Given the description of an element on the screen output the (x, y) to click on. 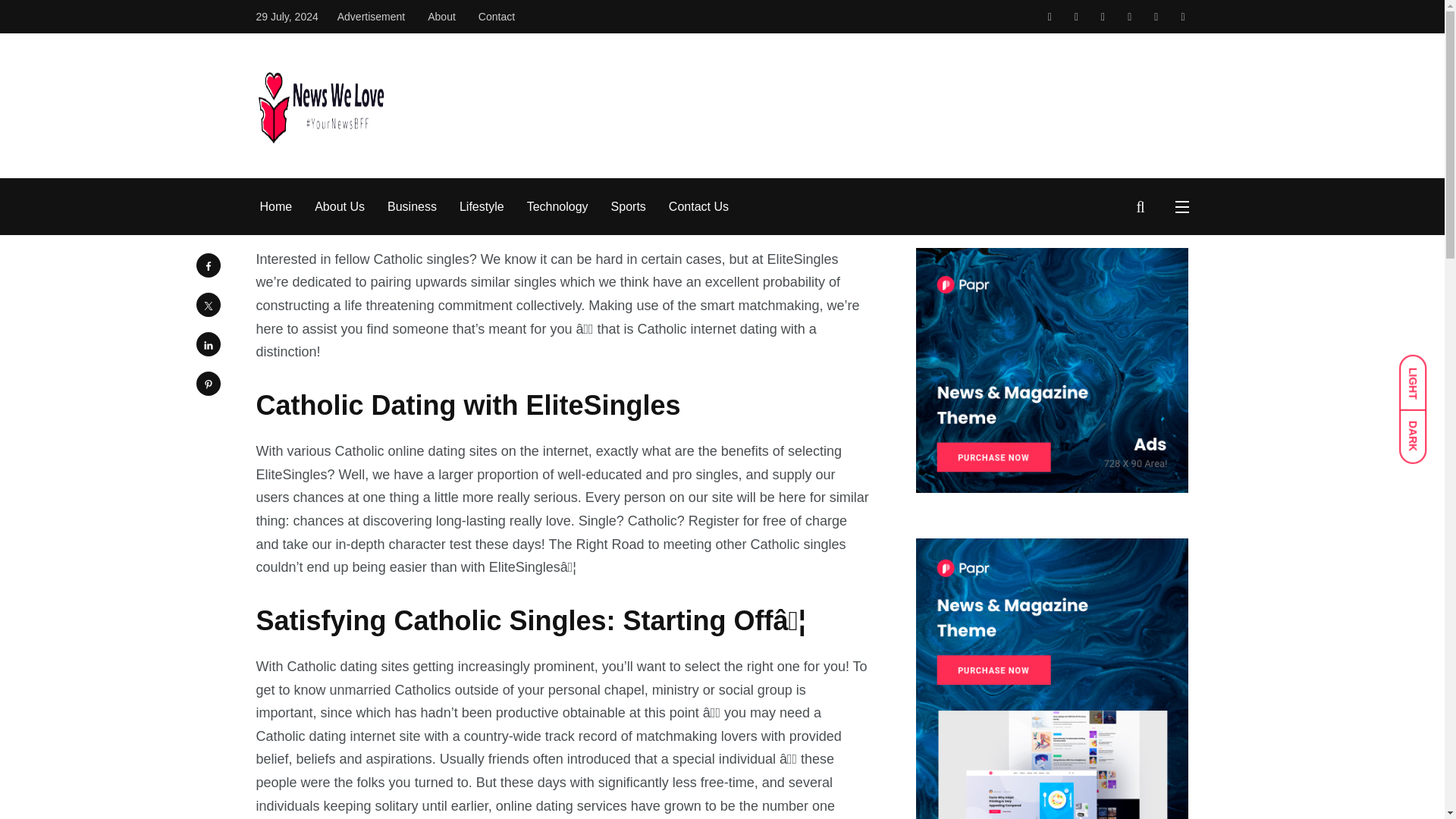
Share on Pinterest (207, 383)
Go to News We Love. (291, 23)
Go to News. (358, 23)
About (441, 16)
UNCATEGORIZED (305, 55)
Uncategorized (424, 23)
Advertisement (370, 16)
Go to the Uncategorized Category archives. (424, 23)
Dark Mode (1419, 428)
Technology (557, 207)
Business (411, 207)
Contact (497, 16)
Home (275, 207)
Lifestyle (481, 207)
Contact Us (698, 207)
